Given the description of an element on the screen output the (x, y) to click on. 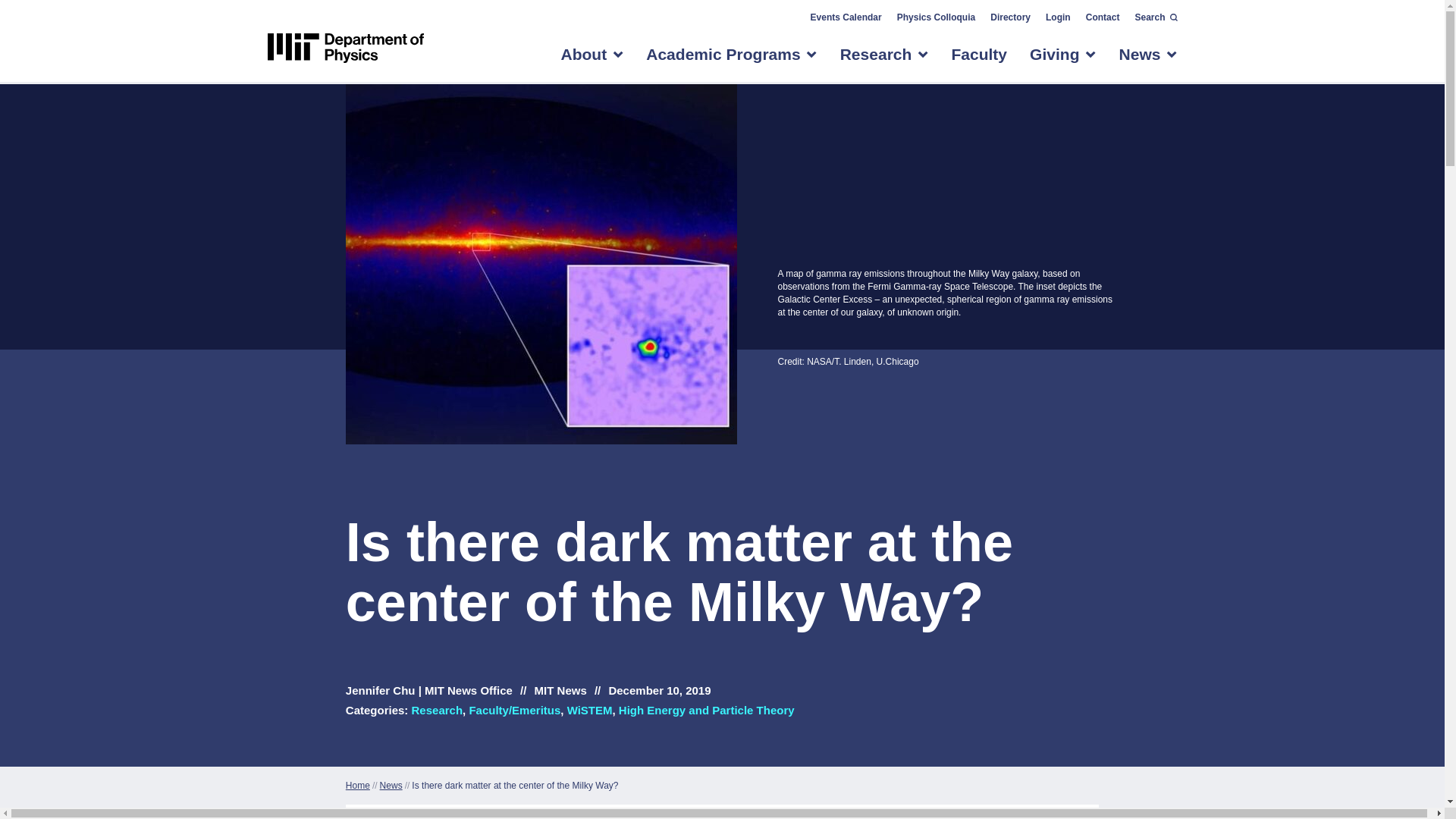
Directory (1010, 17)
Physics Colloquia (936, 17)
Login (1058, 17)
Search (1151, 17)
MIT Physics (344, 48)
Contact (1102, 17)
About (583, 60)
Events Calendar (845, 17)
Academic Programs (722, 60)
